Given the description of an element on the screen output the (x, y) to click on. 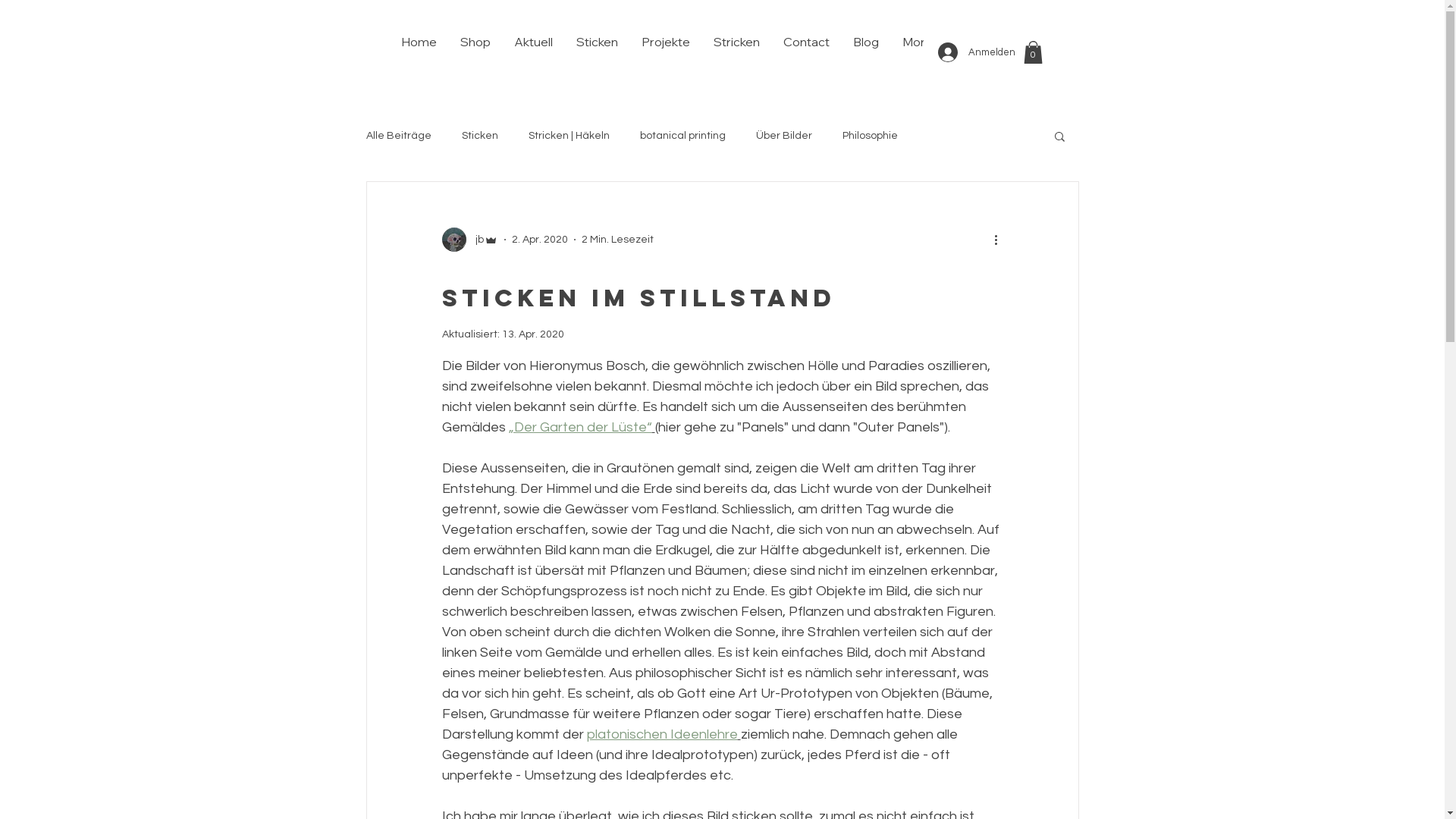
Blog Element type: text (864, 52)
Home Element type: text (418, 52)
Philosophie Element type: text (869, 135)
platonischen Ideenlehre Element type: text (661, 734)
Projekte Element type: text (665, 52)
Stricken Element type: text (735, 52)
0 Element type: text (1032, 51)
Contact Element type: text (805, 52)
Shop Element type: text (474, 52)
Sticken Element type: text (479, 135)
botanical printing Element type: text (682, 135)
Aktuell Element type: text (533, 52)
Anmelden Element type: text (971, 51)
jb Element type: text (469, 239)
Sticken Element type: text (596, 52)
